Given the description of an element on the screen output the (x, y) to click on. 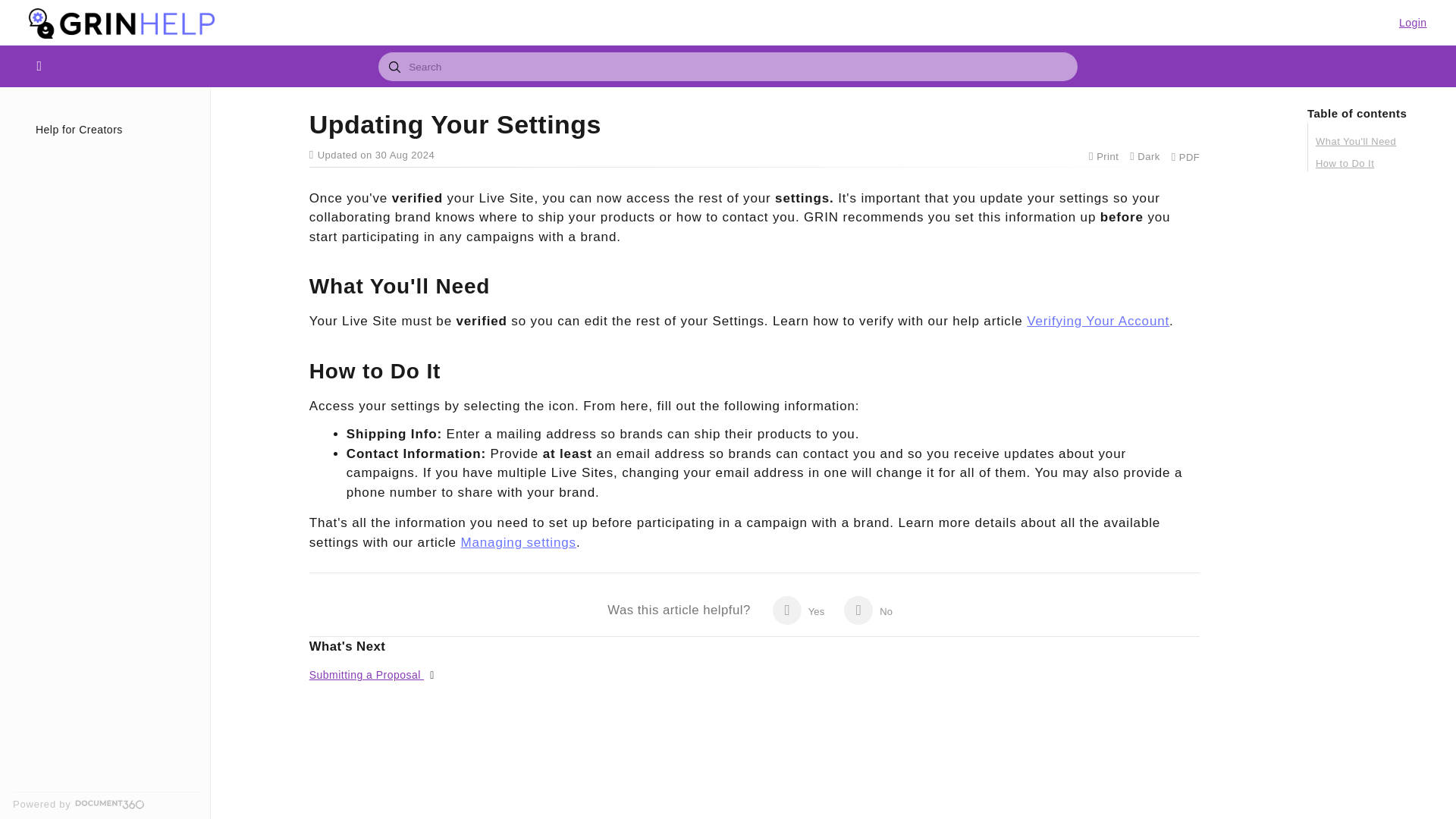
Yes (798, 610)
Login (1412, 22)
Verifying Your Account (1097, 320)
Help for Creators (112, 128)
What You'll Need (1372, 140)
No (868, 610)
Managing settings (517, 542)
Powered by (107, 803)
Submitting a Proposal (365, 674)
How to Do It (1372, 163)
